Given the description of an element on the screen output the (x, y) to click on. 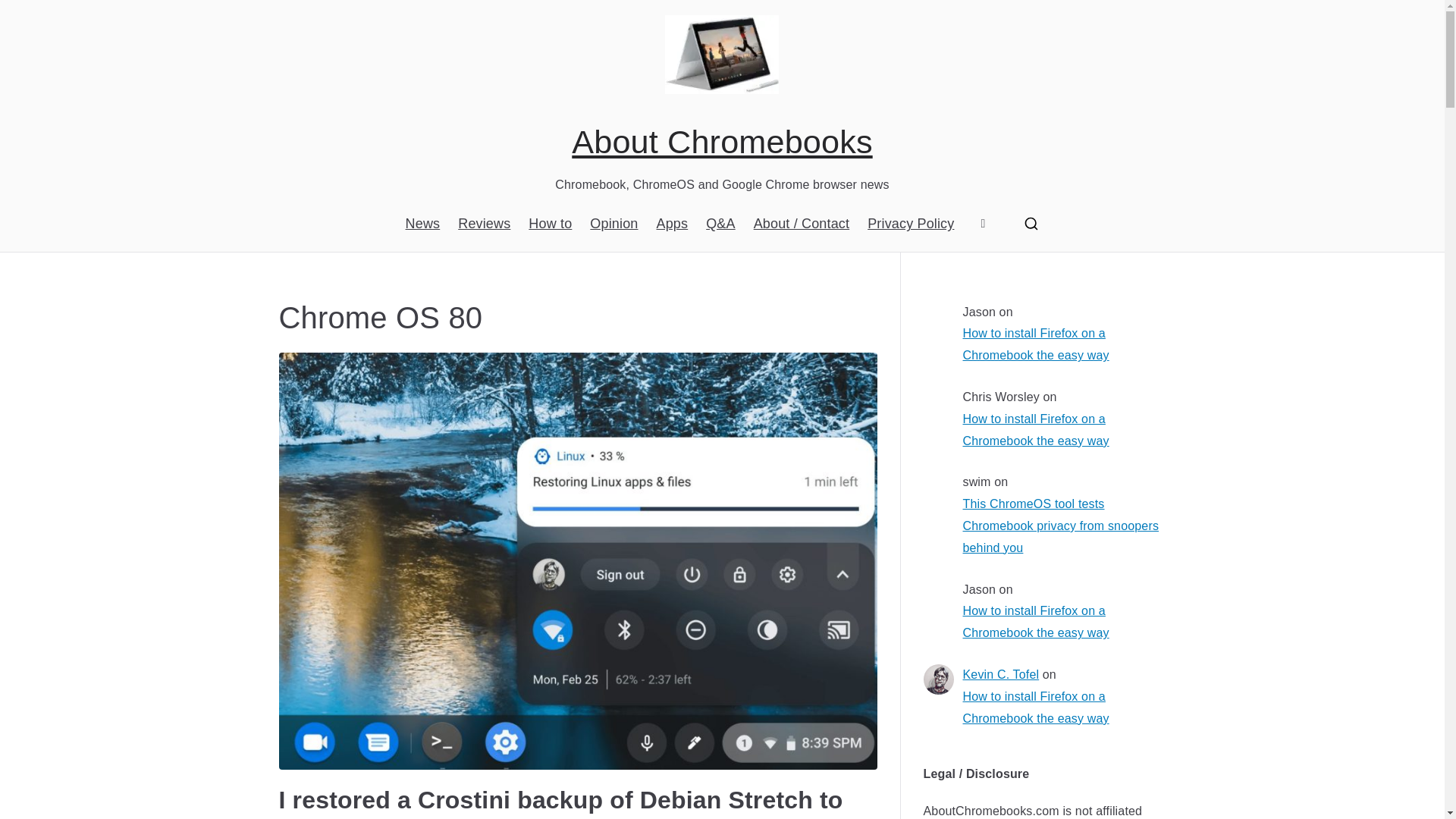
Reviews (484, 223)
Apps (672, 223)
How to (550, 223)
About Chromebooks (722, 141)
Opinion (613, 223)
Search (26, 12)
News (423, 223)
Privacy Policy (910, 223)
